Given the description of an element on the screen output the (x, y) to click on. 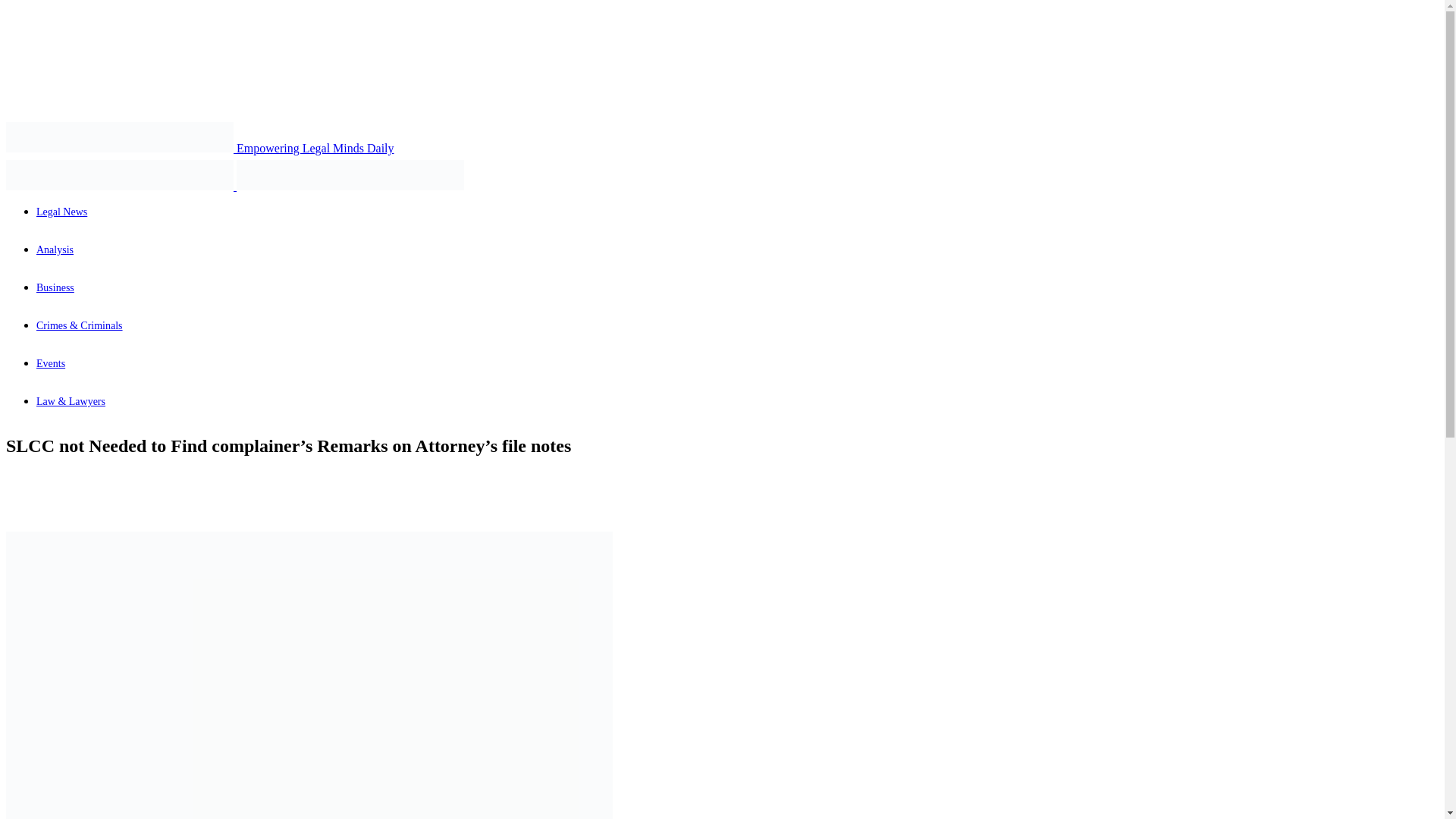
Events (50, 363)
Business (55, 287)
Legal News (349, 174)
Legal News (118, 137)
Legal News (61, 211)
Legal News (118, 174)
Analysis (55, 249)
Empowering Legal Minds Daily (199, 147)
